Given the description of an element on the screen output the (x, y) to click on. 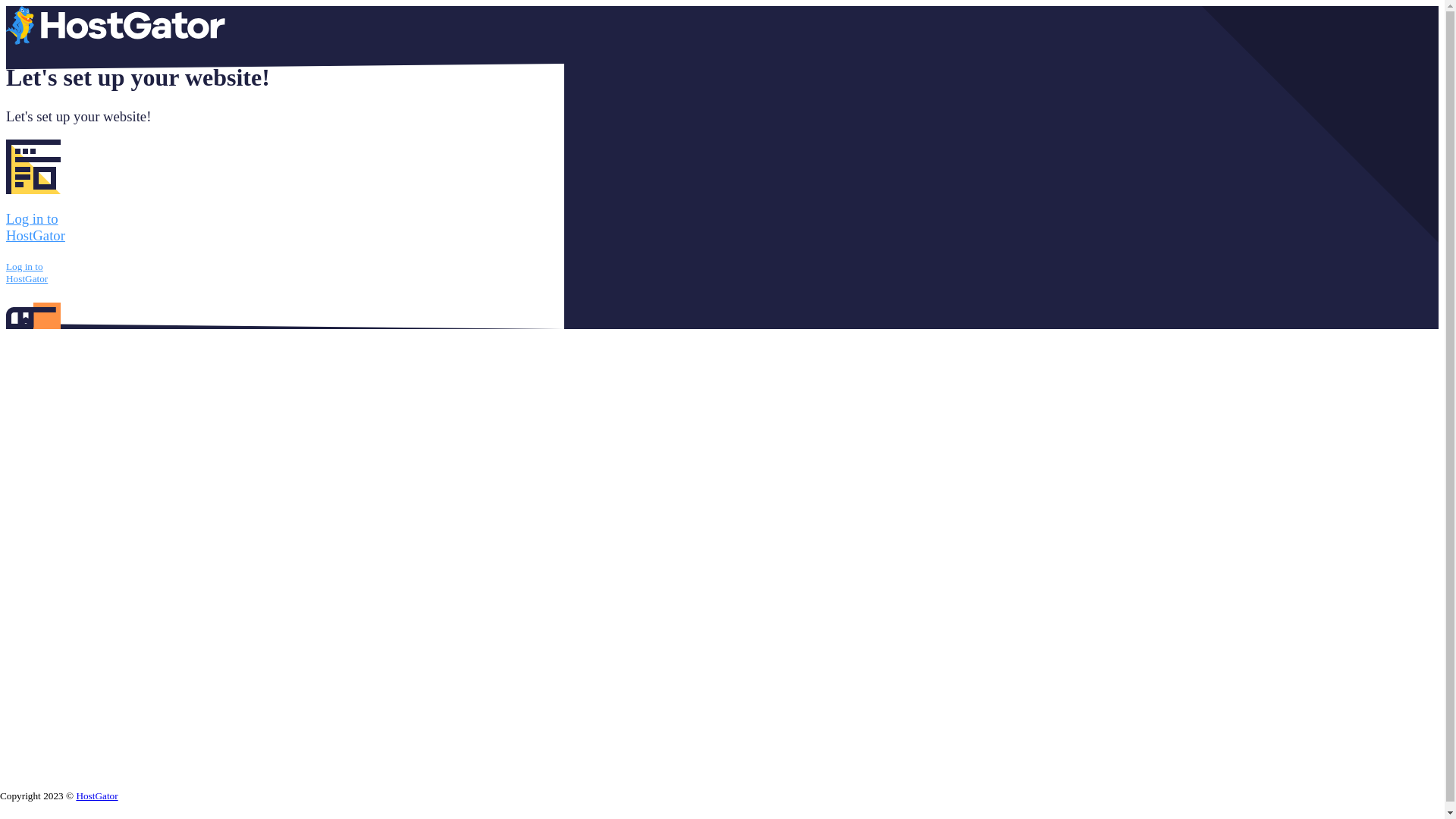
HostGator.com Element type: hover (115, 40)
HostGator Element type: text (96, 795)
Log in to
HostGator
Log in to
HostGator Element type: text (285, 261)
